Given the description of an element on the screen output the (x, y) to click on. 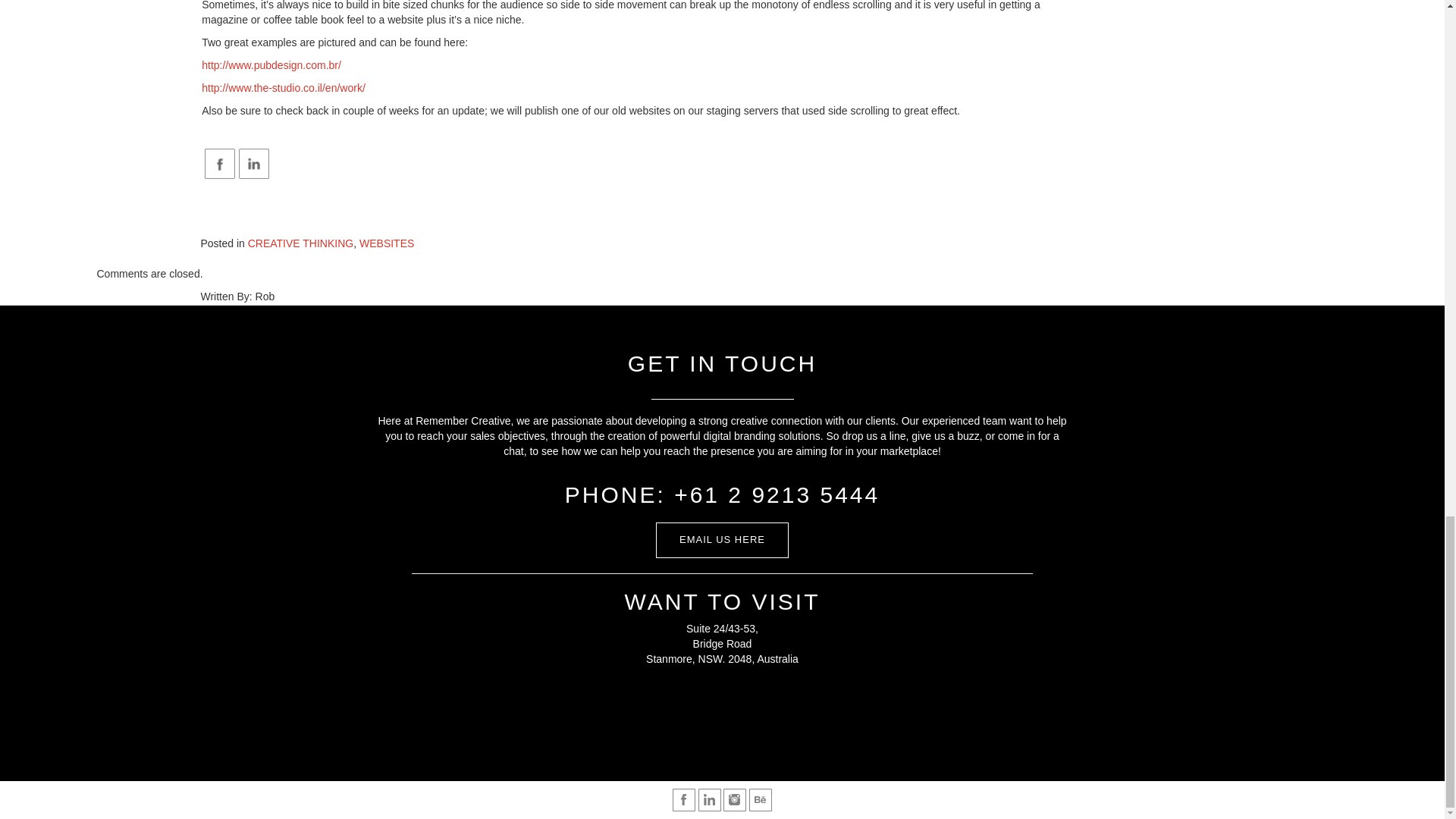
LinkedIn (253, 163)
Facebook (219, 163)
